Given the description of an element on the screen output the (x, y) to click on. 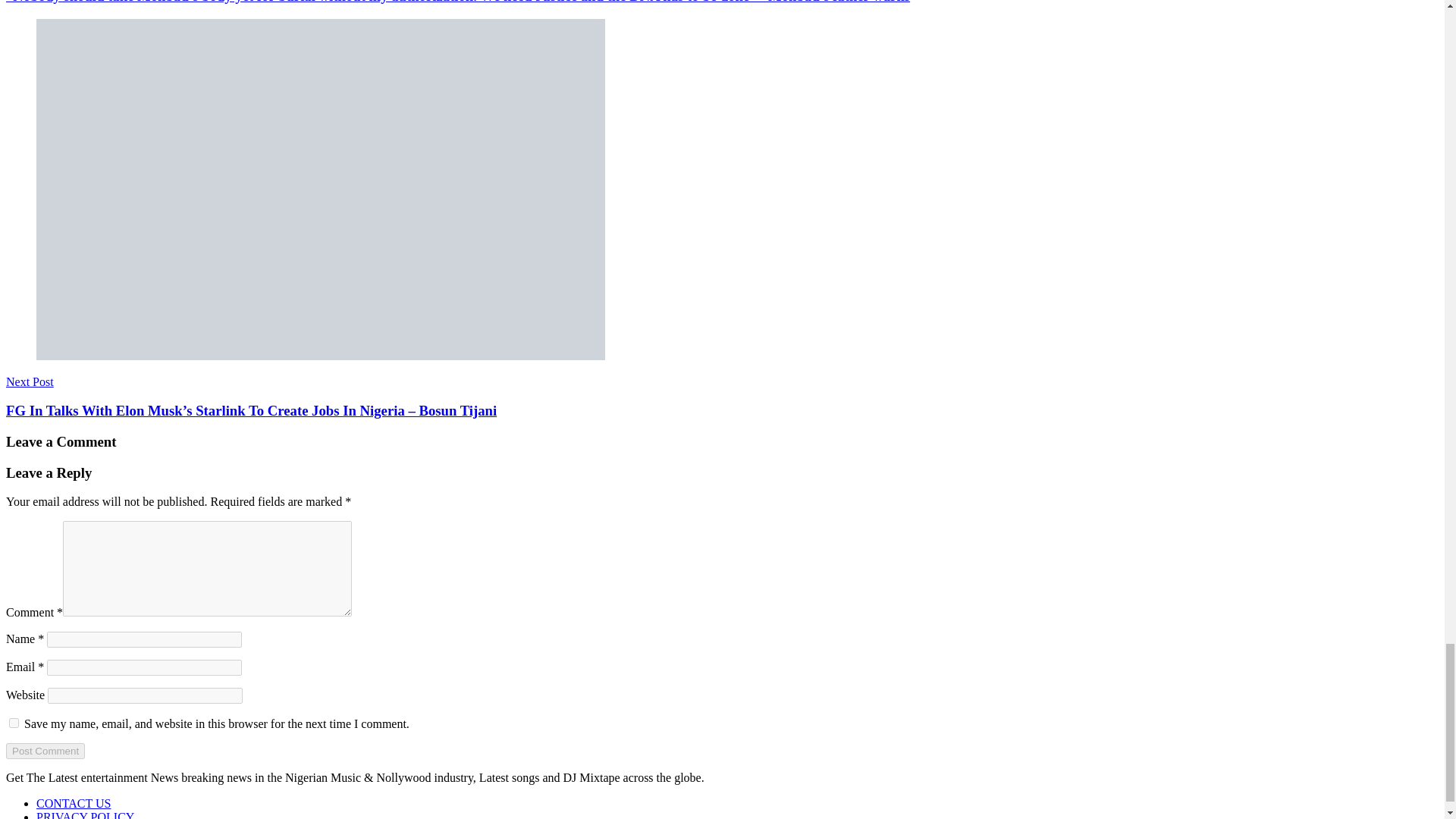
yes (13, 723)
Post Comment (44, 750)
